Given the description of an element on the screen output the (x, y) to click on. 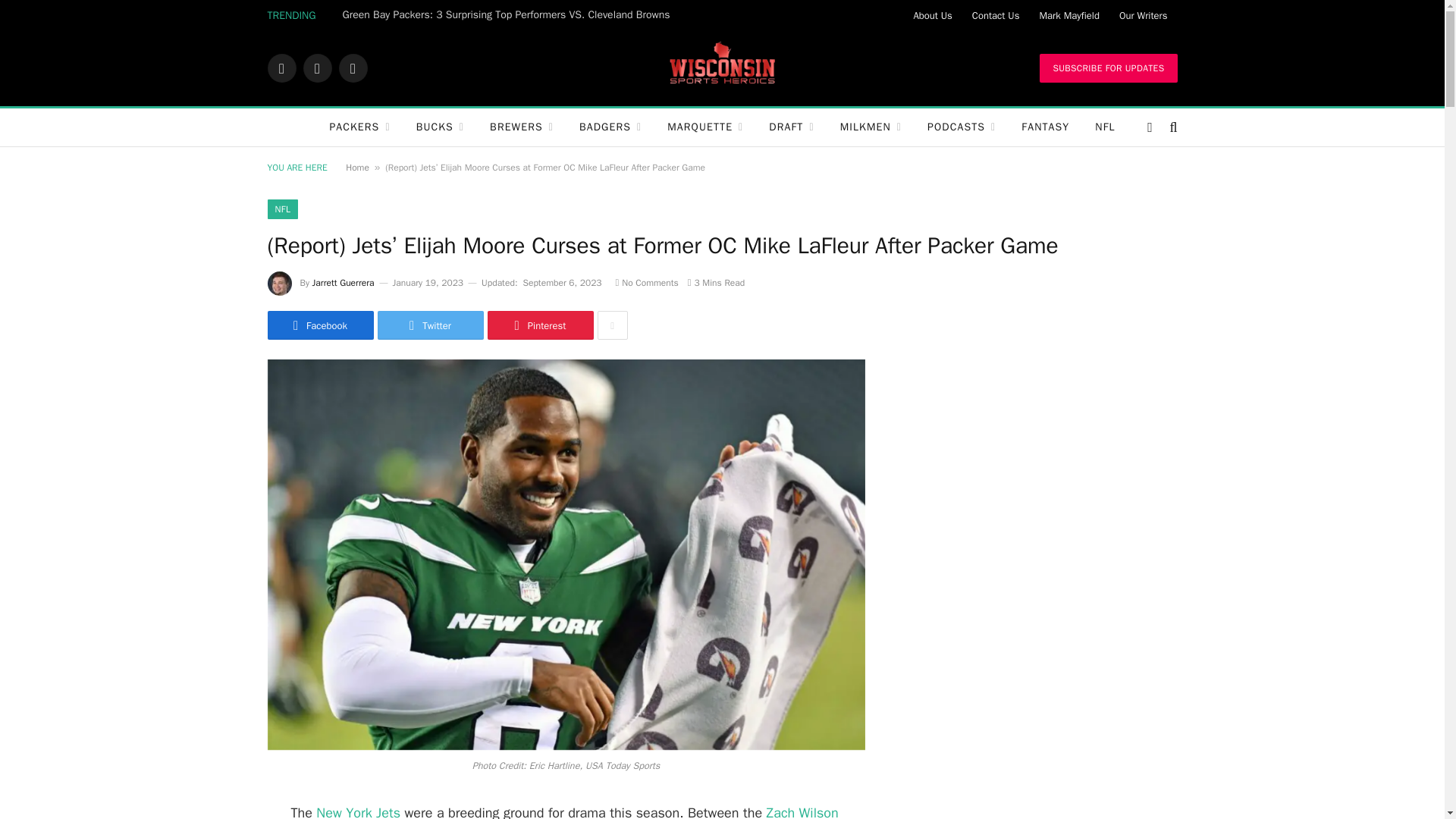
RSS (351, 68)
Share on Facebook (319, 325)
Share on Pinterest (539, 325)
Posts by Jarrett Guerrera (343, 282)
WI Sports Heroics (721, 68)
BUCKS (440, 127)
BADGERS (609, 127)
SUBSCRIBE FOR UPDATES (1107, 68)
Contact Us (995, 15)
